Given the description of an element on the screen output the (x, y) to click on. 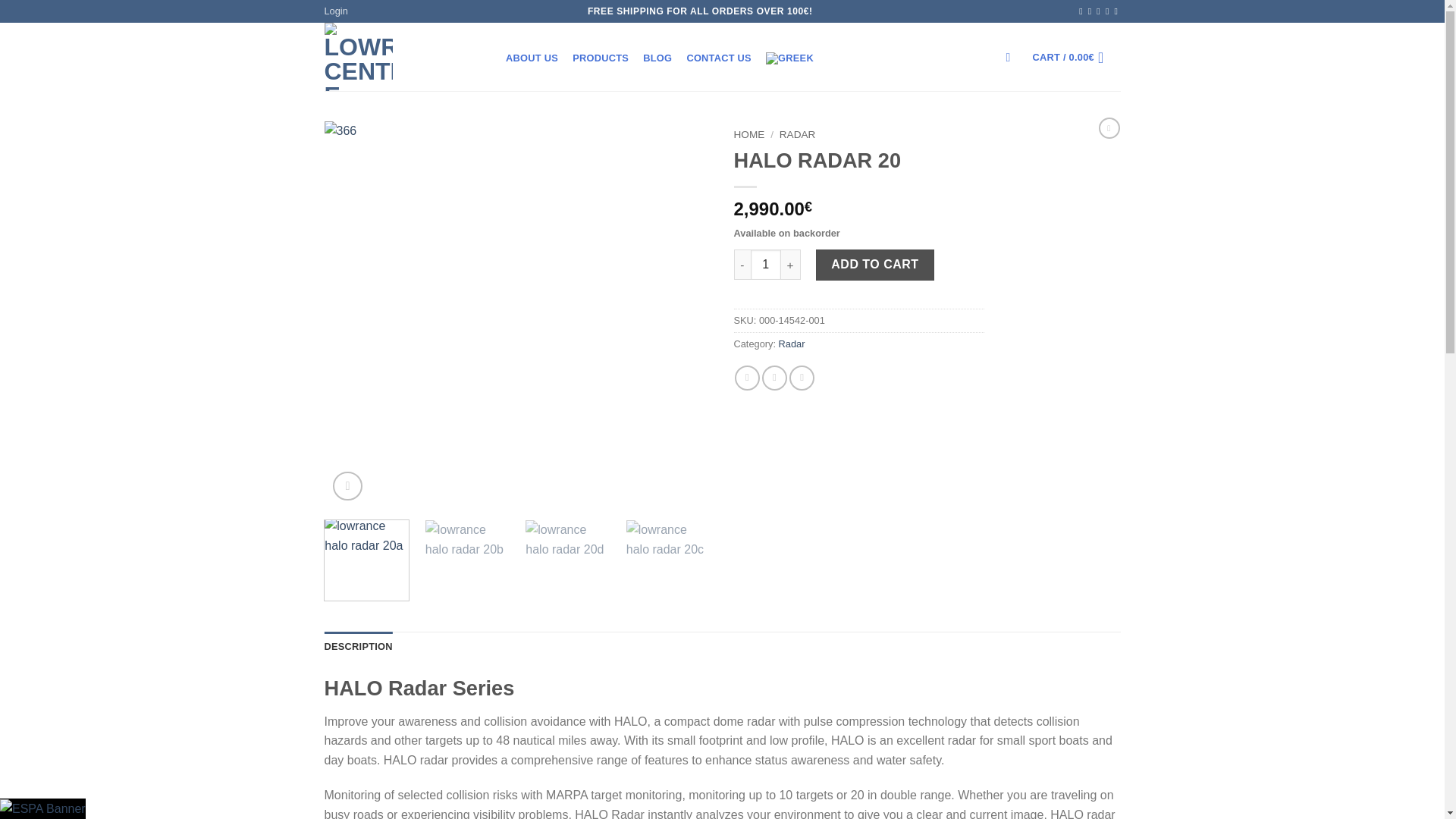
RADAR (796, 134)
ADD TO CART (874, 264)
1 (765, 264)
PRODUCTS (601, 58)
Lowrance Center e-Shop - Lowrance Center (400, 56)
Zoom (347, 486)
Radar (791, 343)
ABOUT US (532, 58)
BLOG (657, 58)
